Given the description of an element on the screen output the (x, y) to click on. 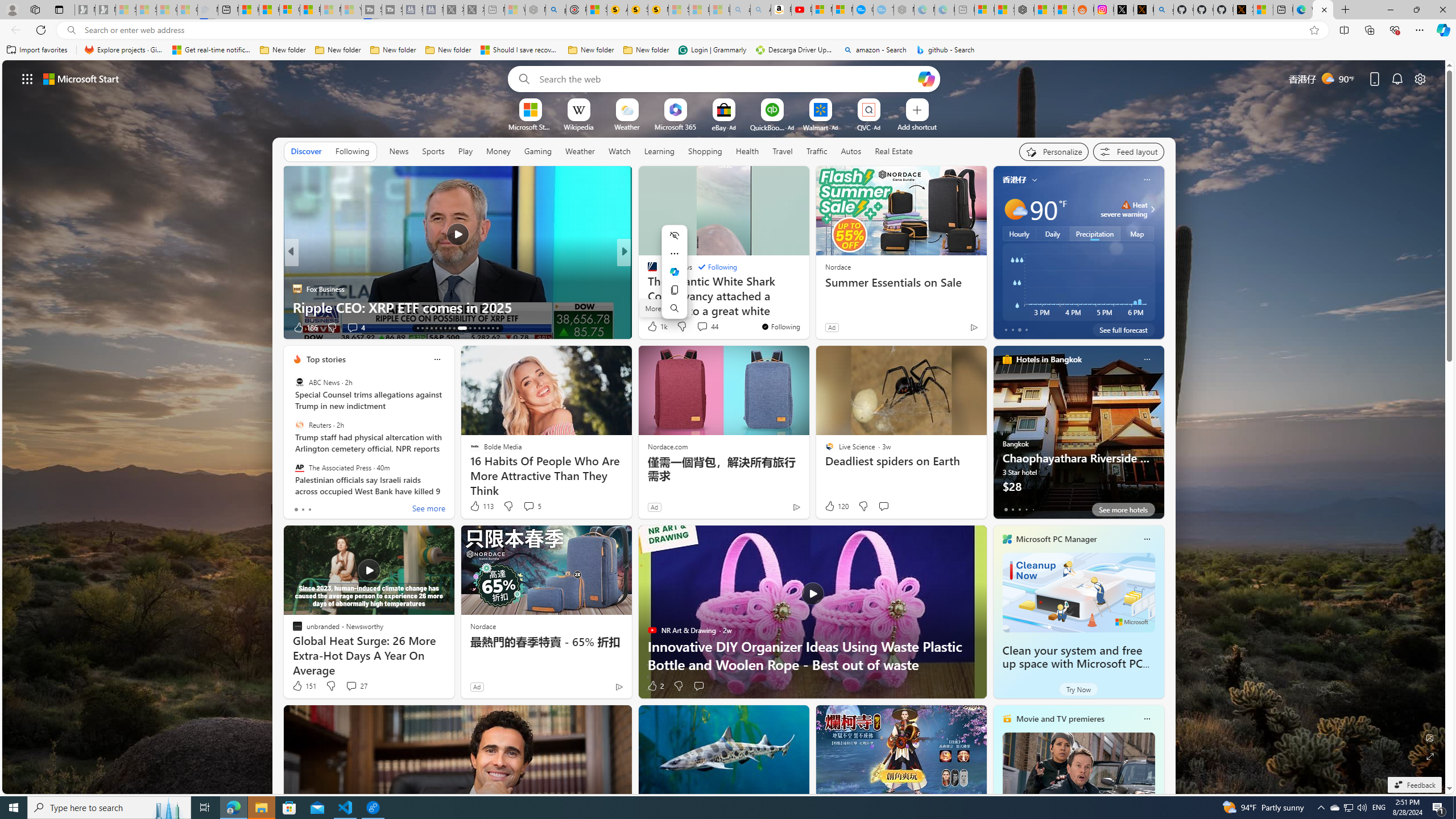
AutomationID: tab-22 (461, 328)
Mini menu on text selection (674, 271)
Nordace (483, 625)
AutomationID: tab-15 (426, 328)
Ripple CEO: XRP ETF comes in 2025 (457, 307)
Start the conversation (698, 685)
tab-2 (1019, 509)
Welcome to Microsoft Edge (1302, 9)
Class: icon-img (1146, 718)
Heat - Severe Heat severe warning (1123, 208)
github - Search (945, 49)
Personal Profile (12, 9)
